Given the description of an element on the screen output the (x, y) to click on. 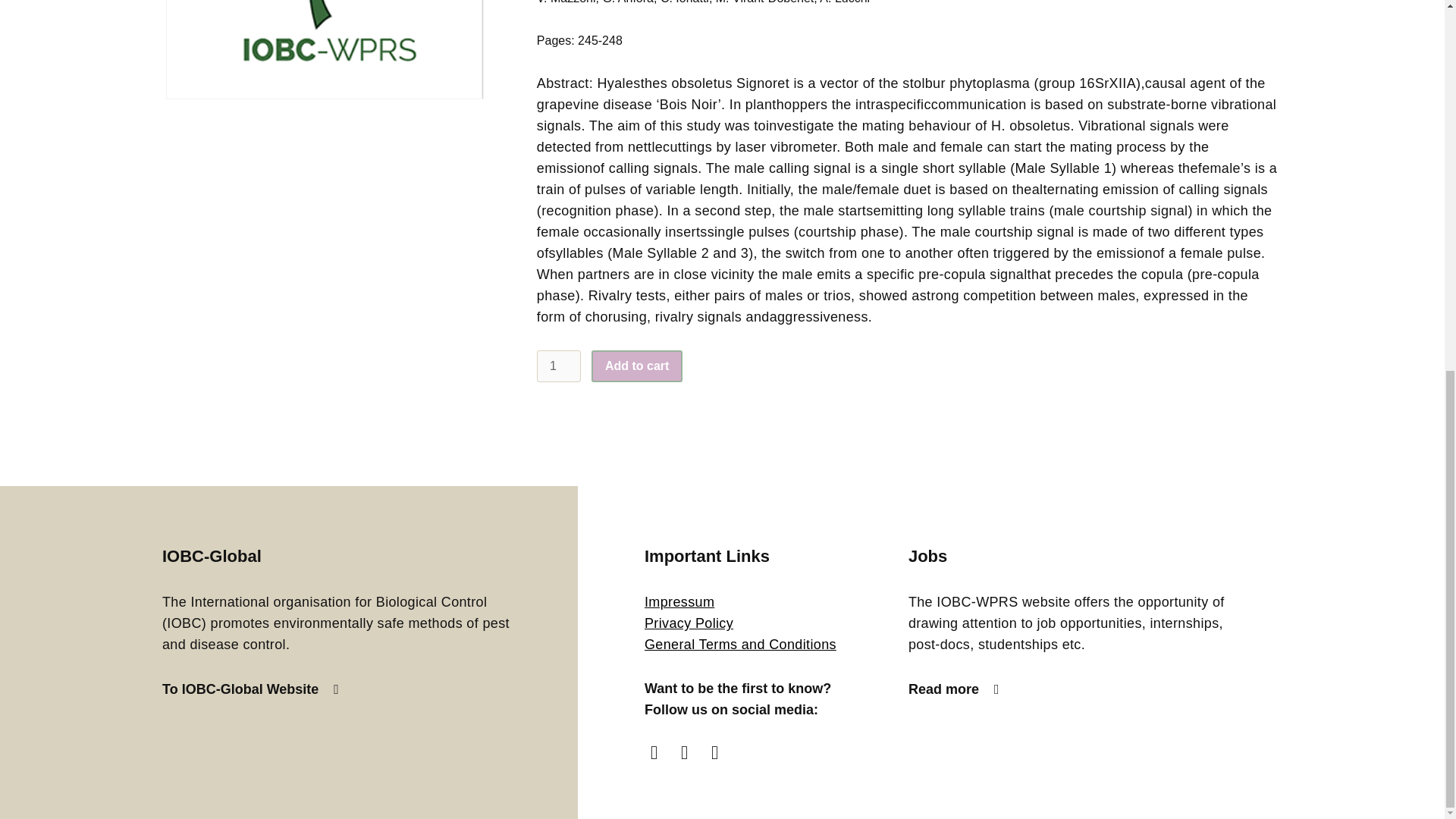
Qty (558, 366)
1 (558, 366)
